Given the description of an element on the screen output the (x, y) to click on. 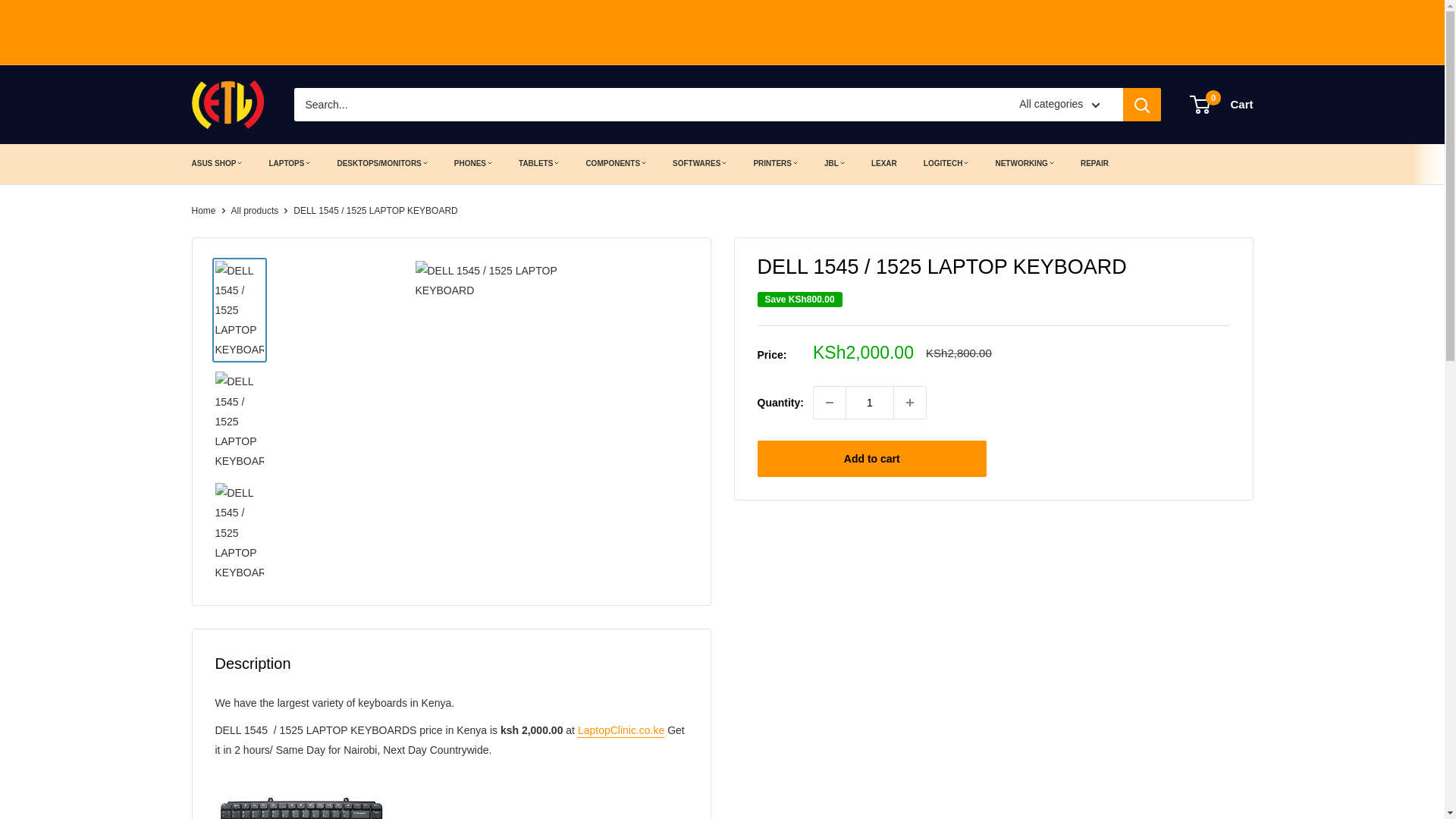
Decrease quantity by 1 (829, 402)
1 (869, 402)
Increase quantity by 1 (909, 402)
